Given the description of an element on the screen output the (x, y) to click on. 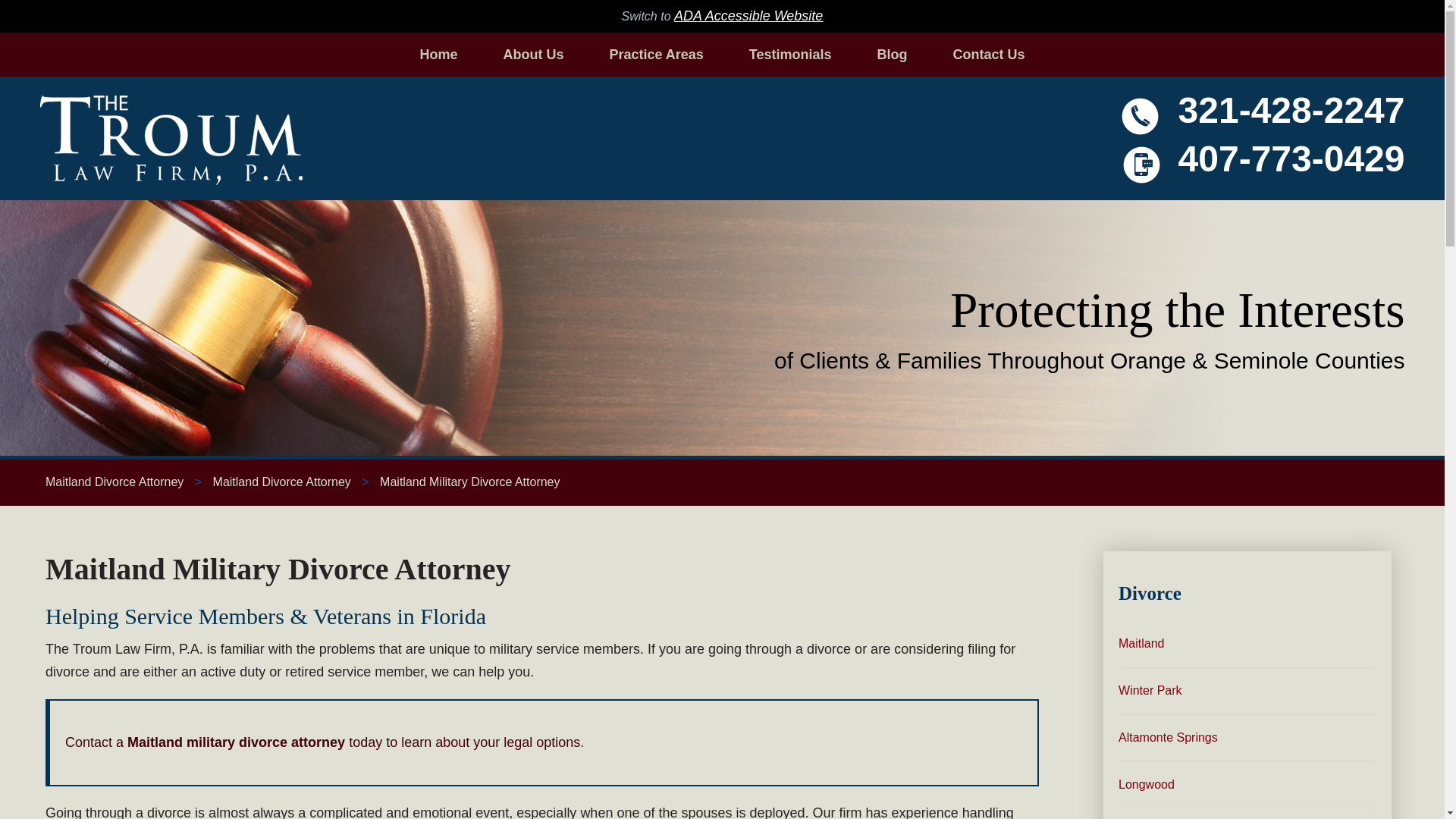
321-428-2247 (1291, 110)
Winter Park (1246, 691)
Testimonials (790, 54)
Divorce (1246, 593)
407-773-0429 (1291, 157)
Altamonte Springs (1246, 737)
Practice Areas (655, 54)
About Us (533, 54)
Contact Us (989, 54)
Maitland Divorce Attorney (113, 482)
